Given the description of an element on the screen output the (x, y) to click on. 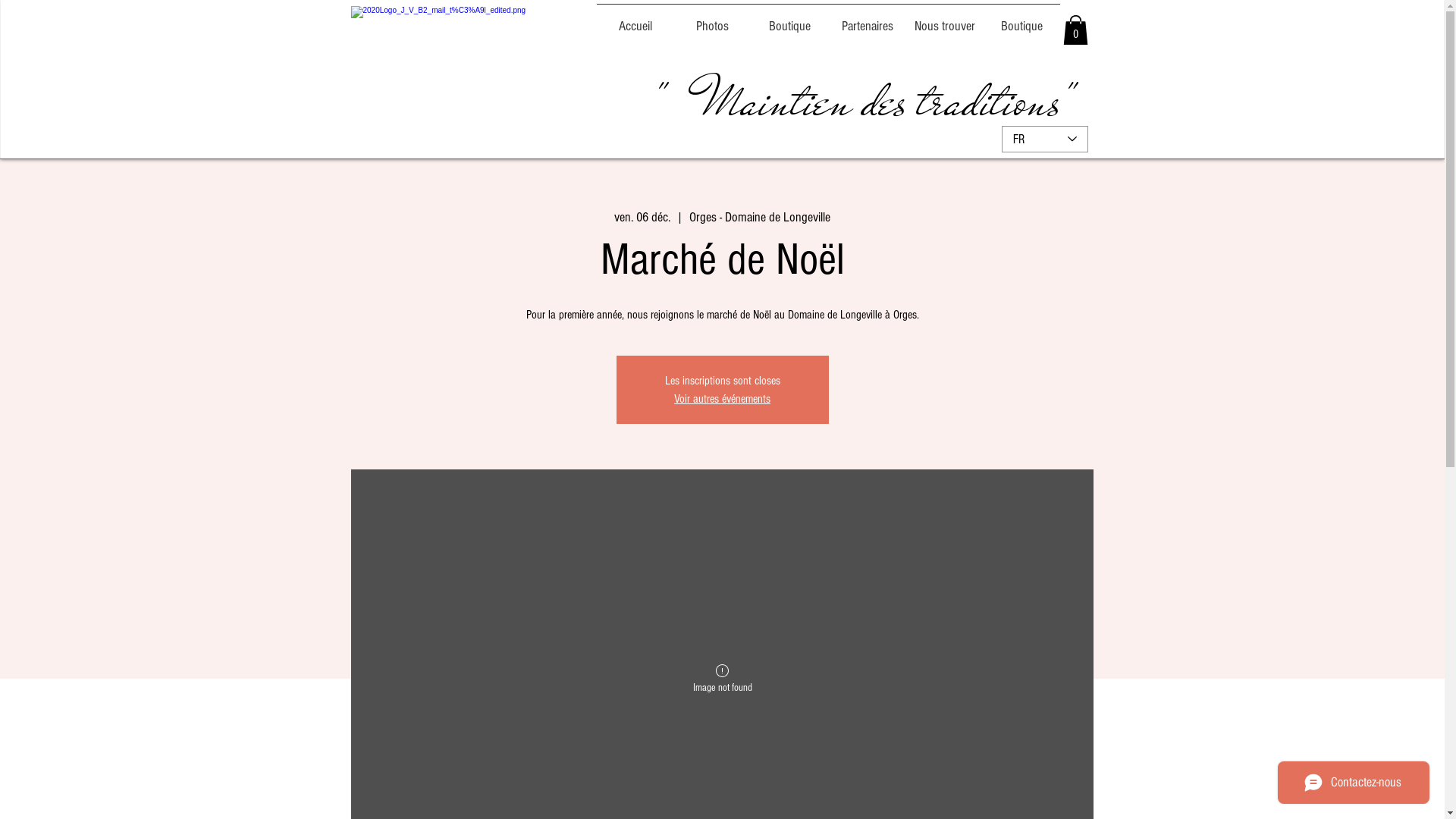
Accueil Element type: text (634, 19)
Photos Element type: text (711, 19)
Partenaires Element type: text (866, 19)
Nous trouver Element type: text (943, 19)
0 Element type: text (1075, 29)
Boutique Element type: text (789, 19)
